Given the description of an element on the screen output the (x, y) to click on. 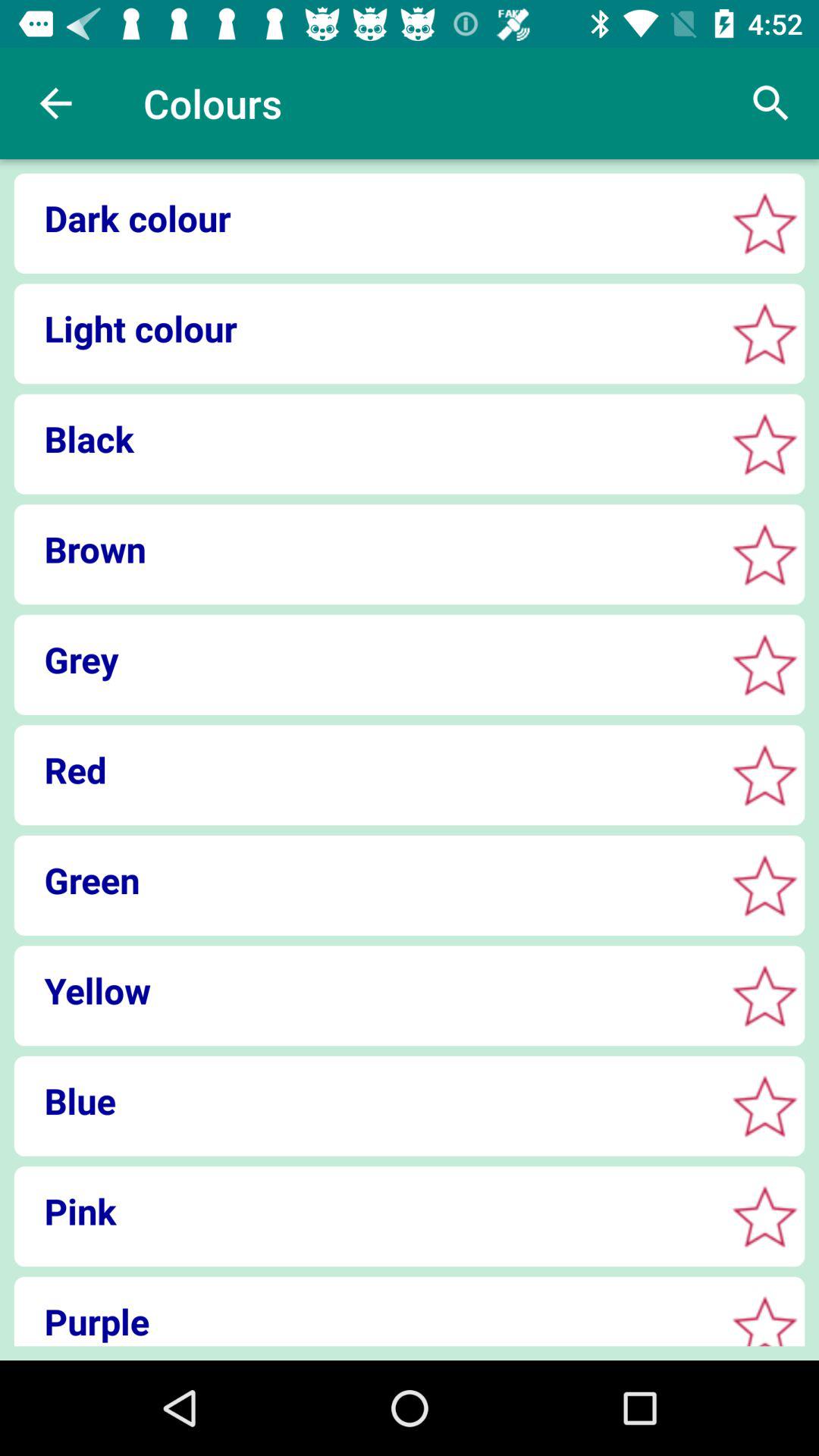
select/favorite (764, 885)
